Given the description of an element on the screen output the (x, y) to click on. 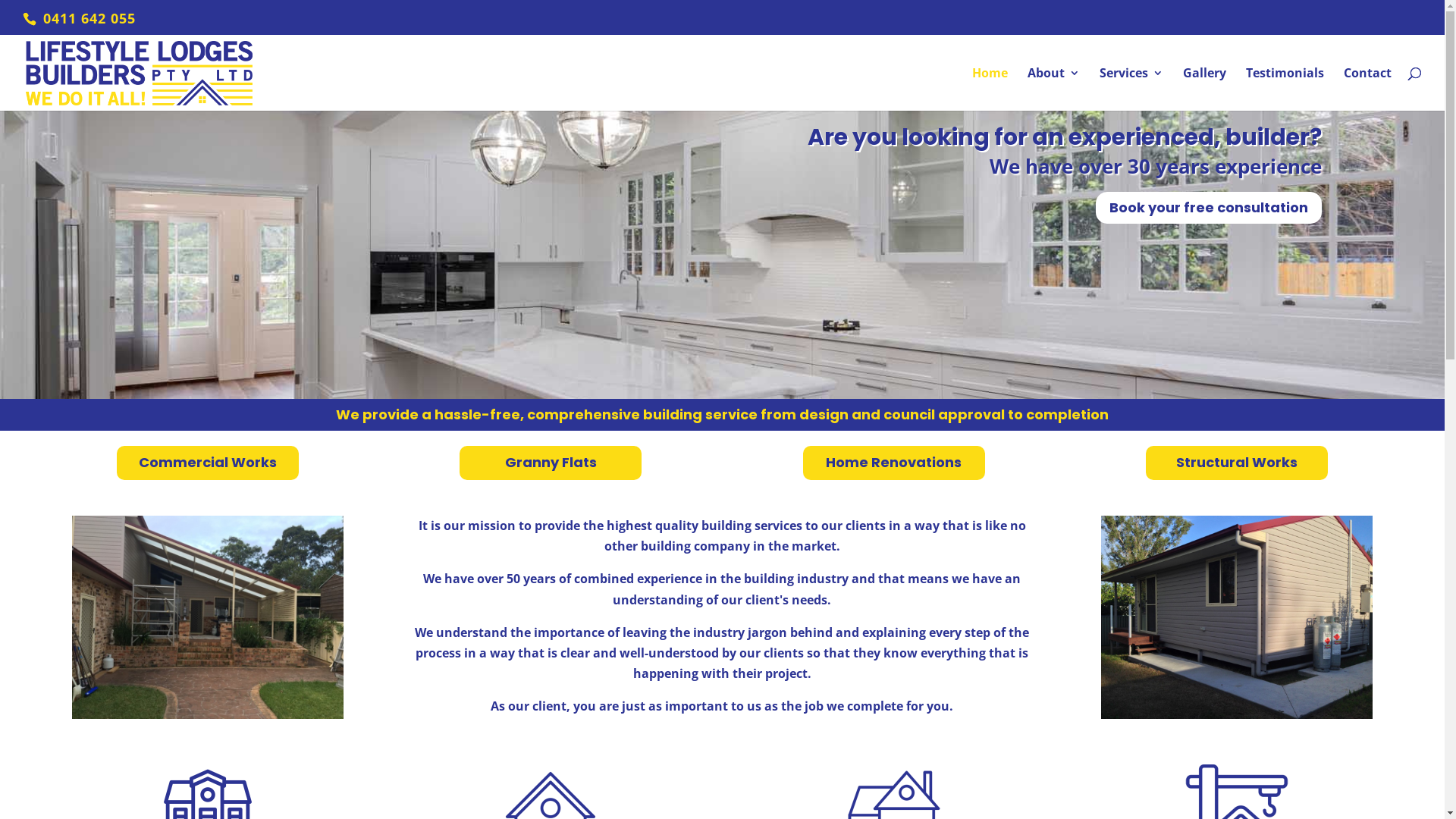
Granny Flats Element type: text (550, 462)
About Element type: text (1053, 88)
Home Element type: text (989, 88)
Commercial Works Element type: text (207, 462)
Structural Works Element type: text (1236, 462)
Book your free consultation Element type: text (1208, 206)
Contact Element type: text (1367, 88)
D3-768x576 Element type: hover (207, 616)
0411 642 055 Element type: text (86, 18)
Granny-Flat-Front-View Element type: hover (1236, 616)
Services Element type: text (1131, 88)
Testimonials Element type: text (1284, 88)
Gallery Element type: text (1204, 88)
Home Renovations Element type: text (894, 462)
